Given the description of an element on the screen output the (x, y) to click on. 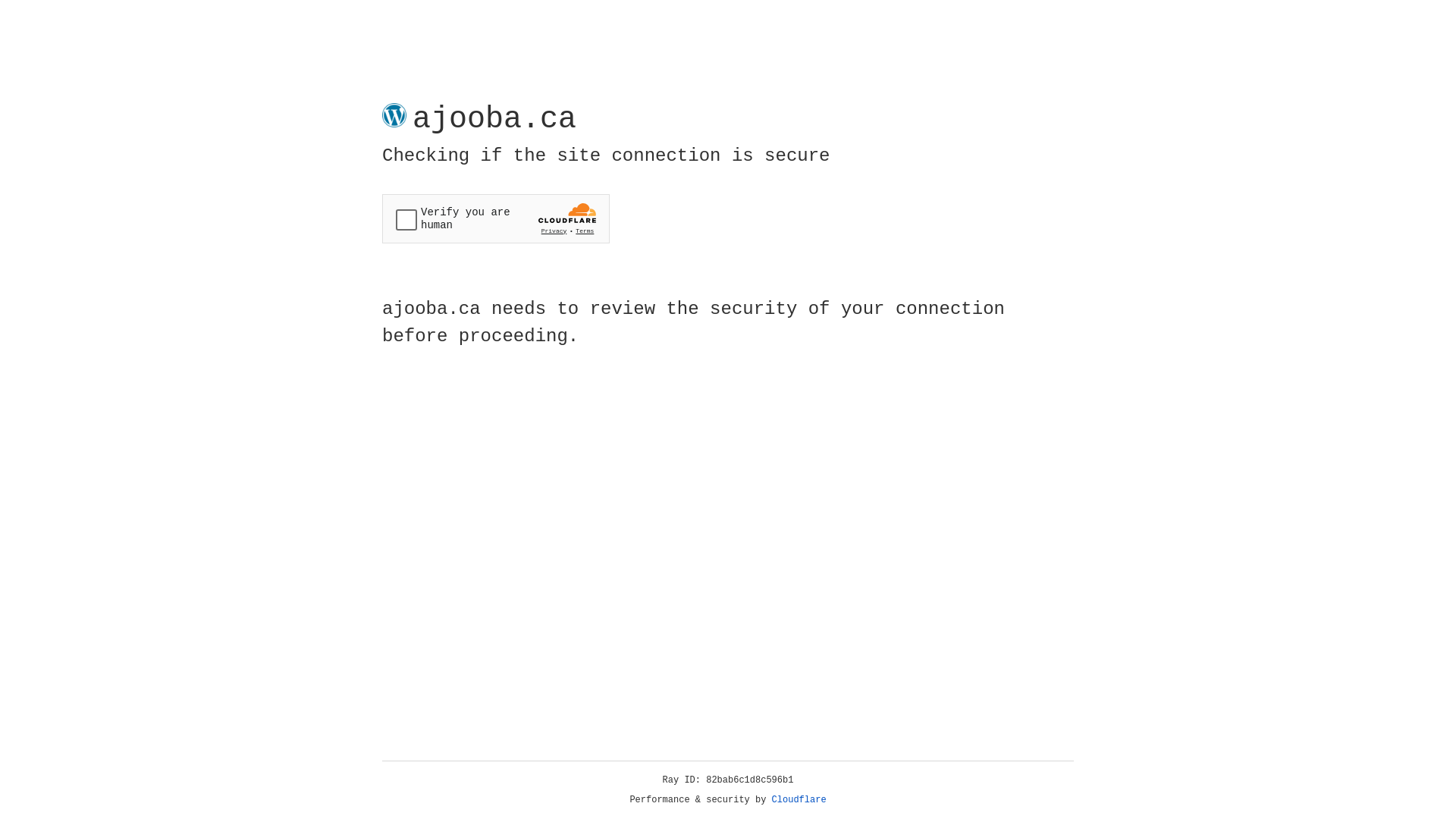
Cloudflare Element type: text (798, 799)
Widget containing a Cloudflare security challenge Element type: hover (495, 218)
